Given the description of an element on the screen output the (x, y) to click on. 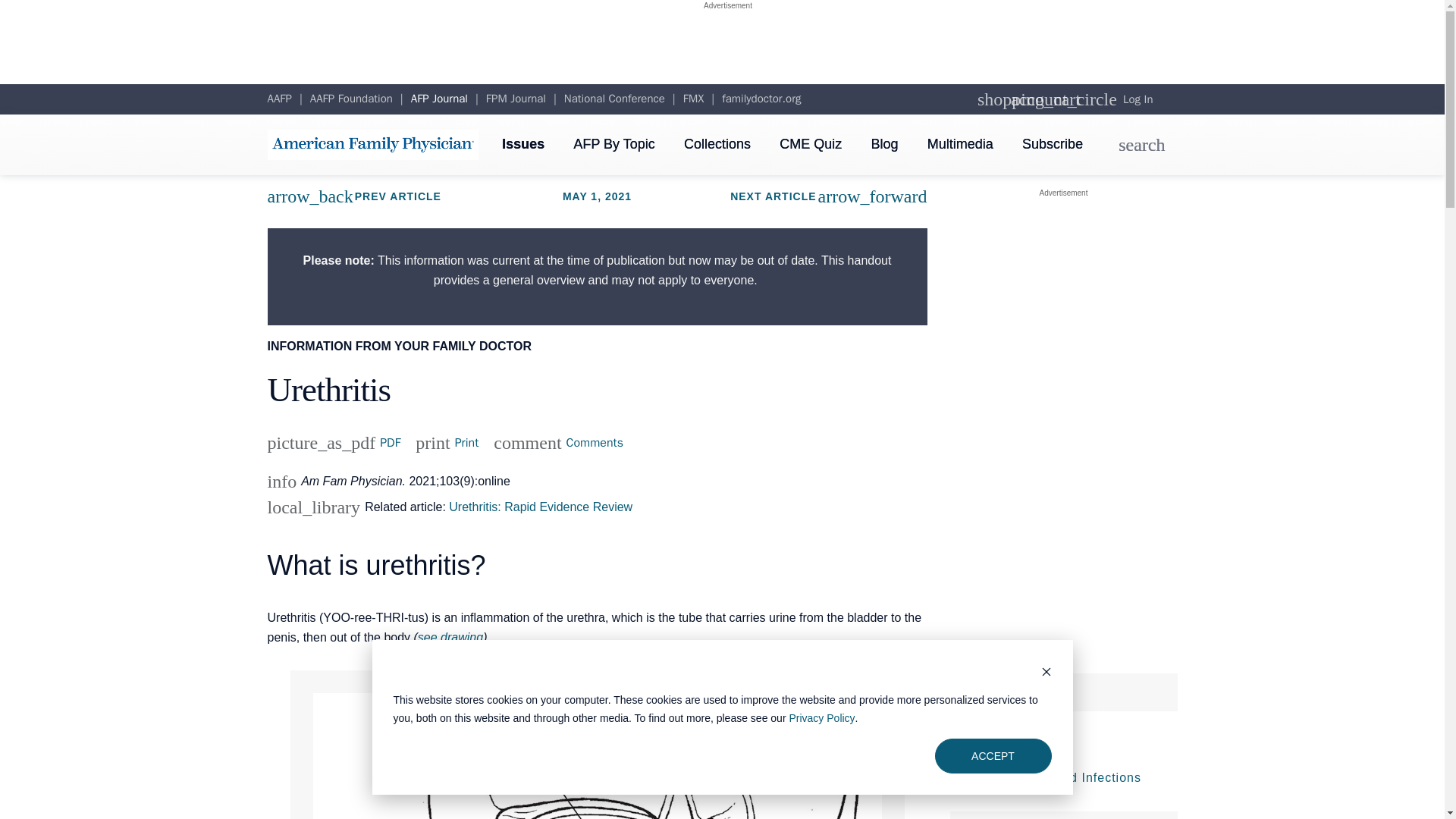
Advertisement (727, 5)
AFP Journal (827, 724)
National Conference (438, 99)
AAFP (614, 99)
FMX (278, 99)
Blog (693, 99)
AFP By Topic (884, 144)
FPM Journal (614, 144)
Urethritis: Rapid Evidence Review (516, 99)
3rd party ad content (539, 506)
AAFP Foundation (446, 443)
Issues (727, 49)
Multimedia (351, 99)
